Given the description of an element on the screen output the (x, y) to click on. 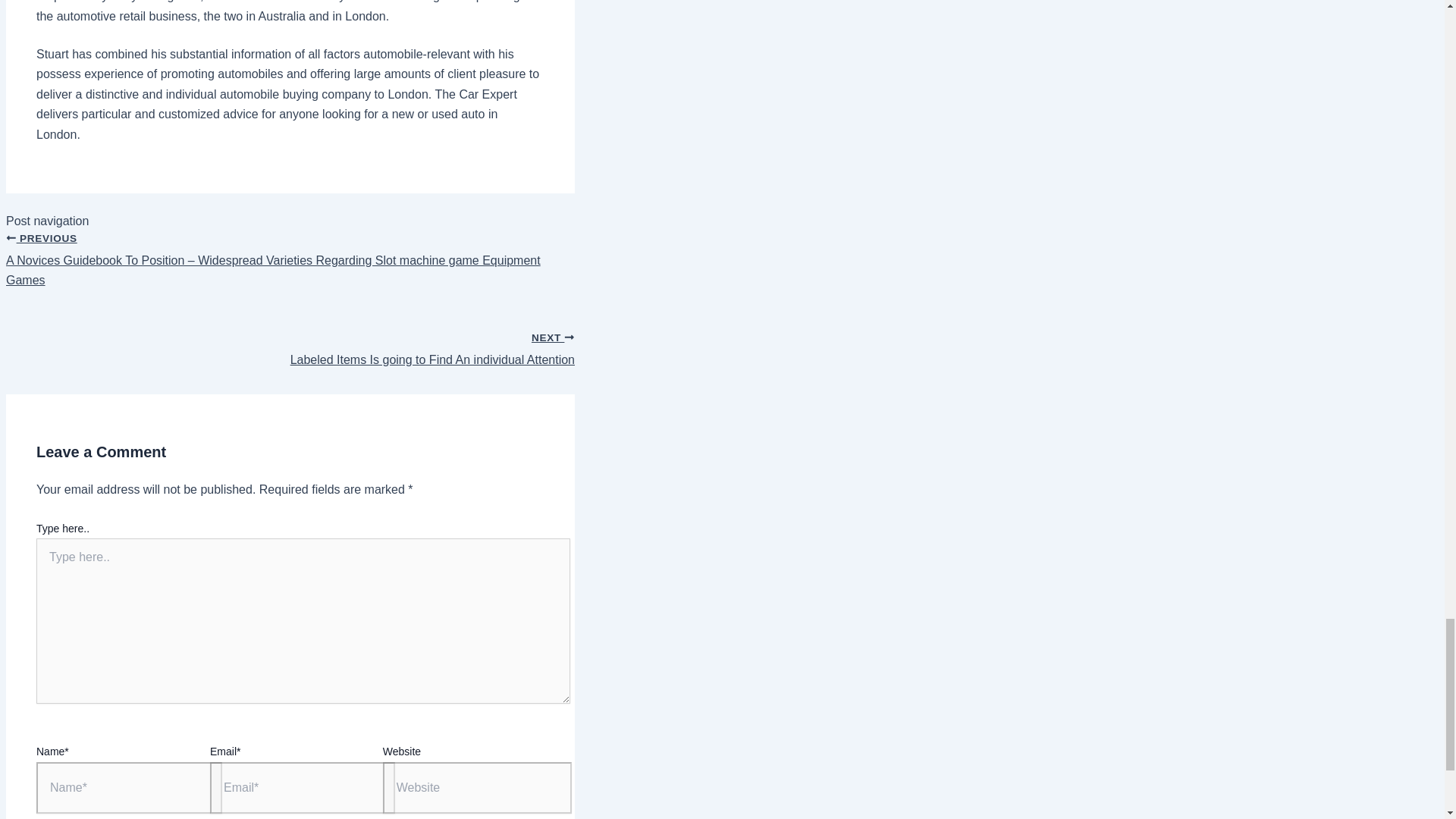
Labeled Items Is going to Find An individual Attention (290, 341)
